Given the description of an element on the screen output the (x, y) to click on. 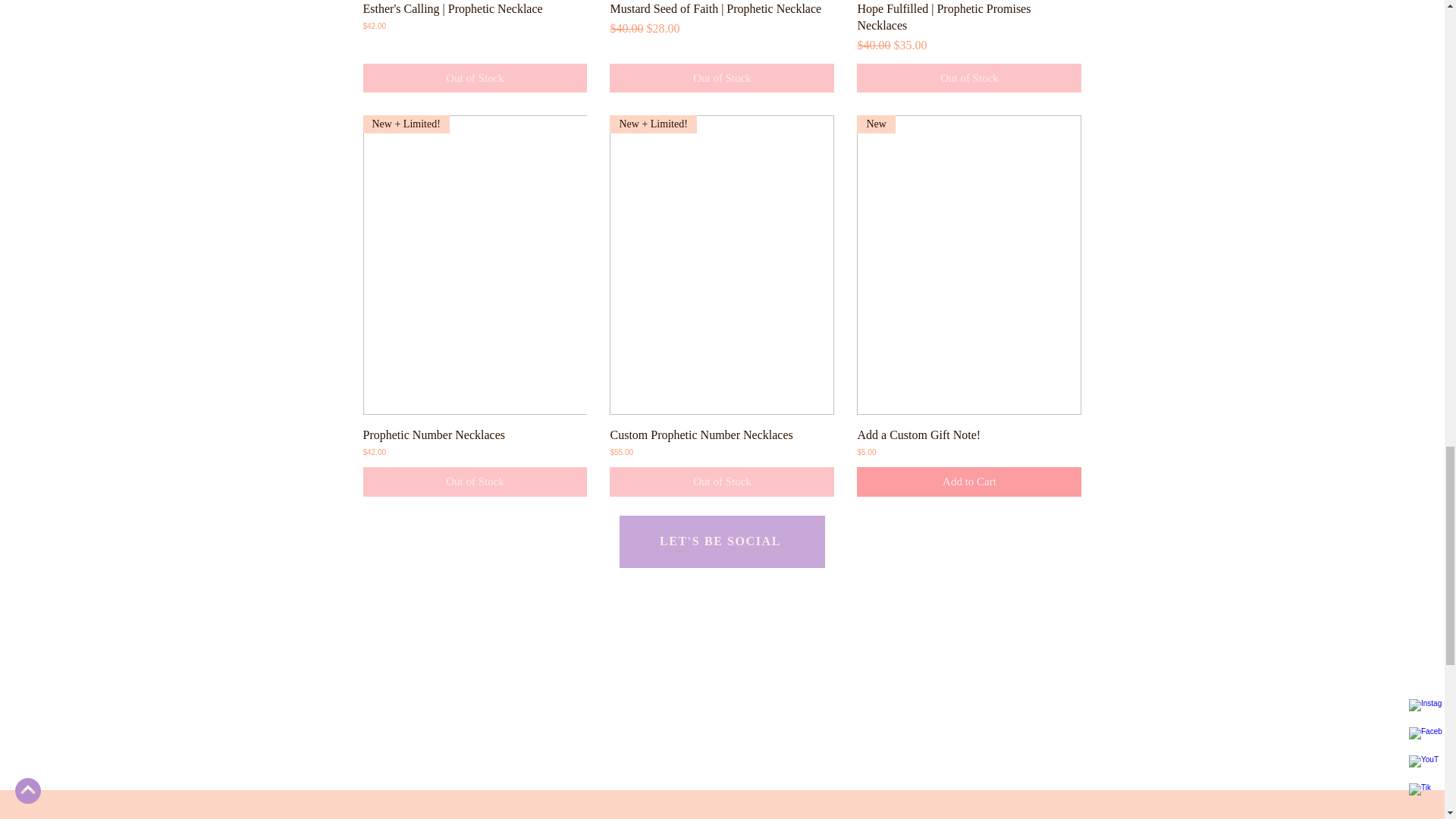
Out of Stock (474, 481)
Out of Stock (969, 78)
Out of Stock (474, 78)
Out of Stock (722, 78)
